Given the description of an element on the screen output the (x, y) to click on. 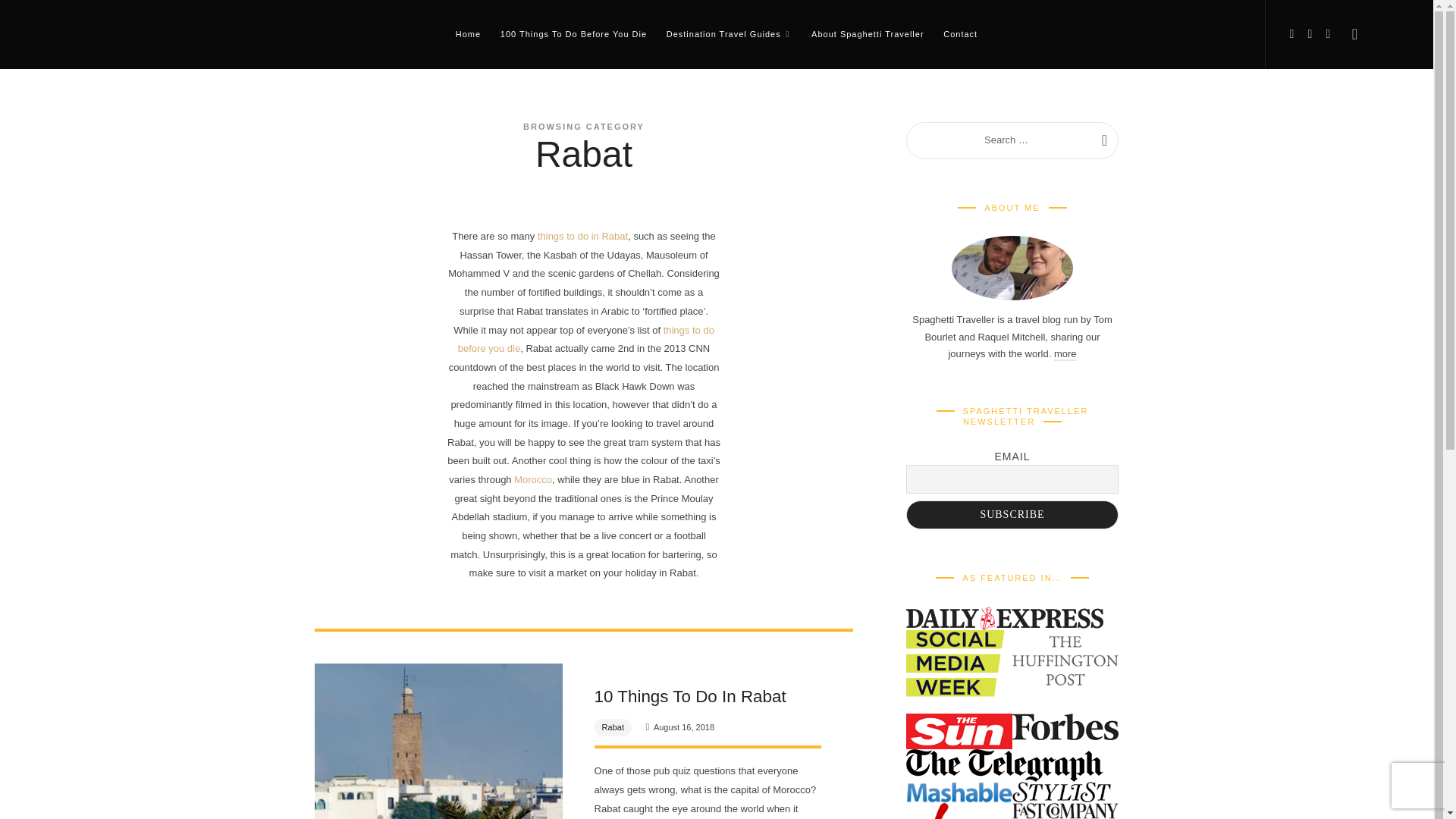
Subscribe (1011, 514)
100 Things To Do Before You Die (573, 33)
Destination Travel Guides (729, 33)
